Given the description of an element on the screen output the (x, y) to click on. 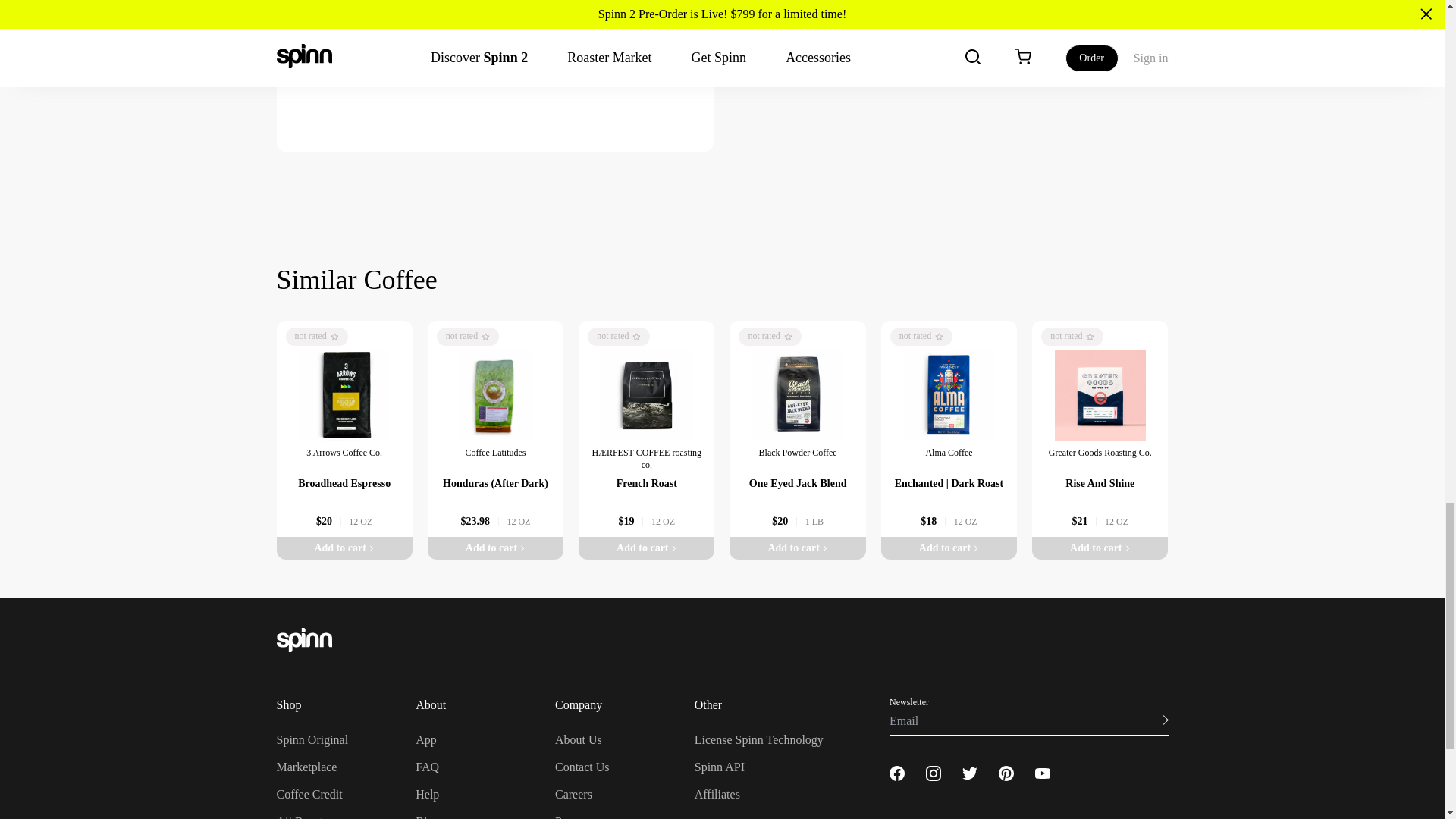
Marketplace (306, 766)
License Spinn Technology (759, 739)
FAQ (426, 766)
Help (426, 793)
Contact Us (582, 766)
Careers (573, 793)
Press (567, 816)
All Roasters (306, 816)
Spinn Original (311, 739)
Coffee Credit (309, 793)
